Given the description of an element on the screen output the (x, y) to click on. 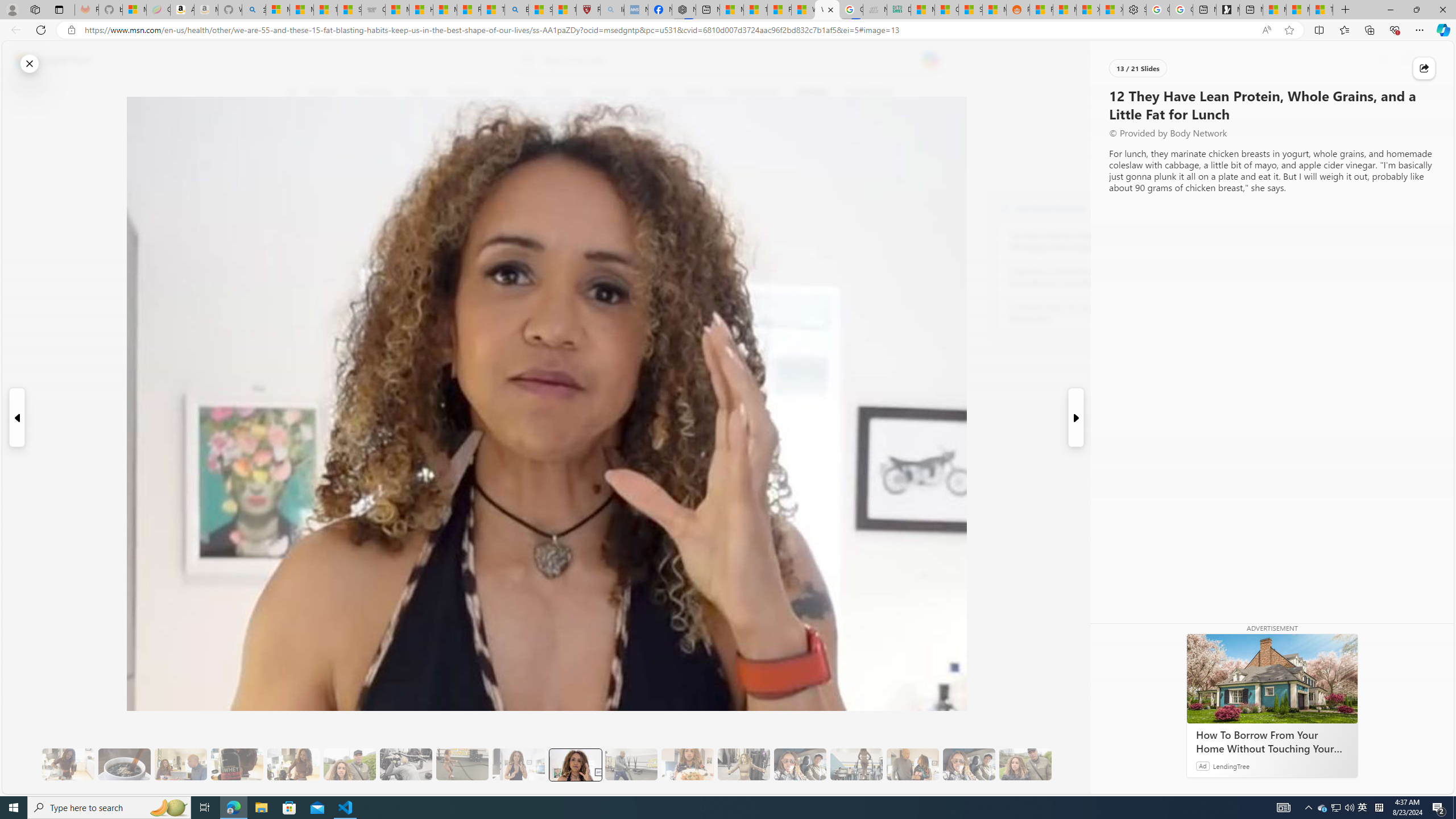
Microsoft Start Gaming (1227, 9)
9 They Do Bench Exercises (406, 764)
World News (468, 92)
Robert H. Shmerling, MD - Harvard Health (588, 9)
Go to publisher's site (830, 146)
Fitness - MSN (779, 9)
DITOGAMES AG Imprint (898, 9)
Enter your search term (730, 59)
Politics (697, 92)
Personalize (1132, 92)
